Given the description of an element on the screen output the (x, y) to click on. 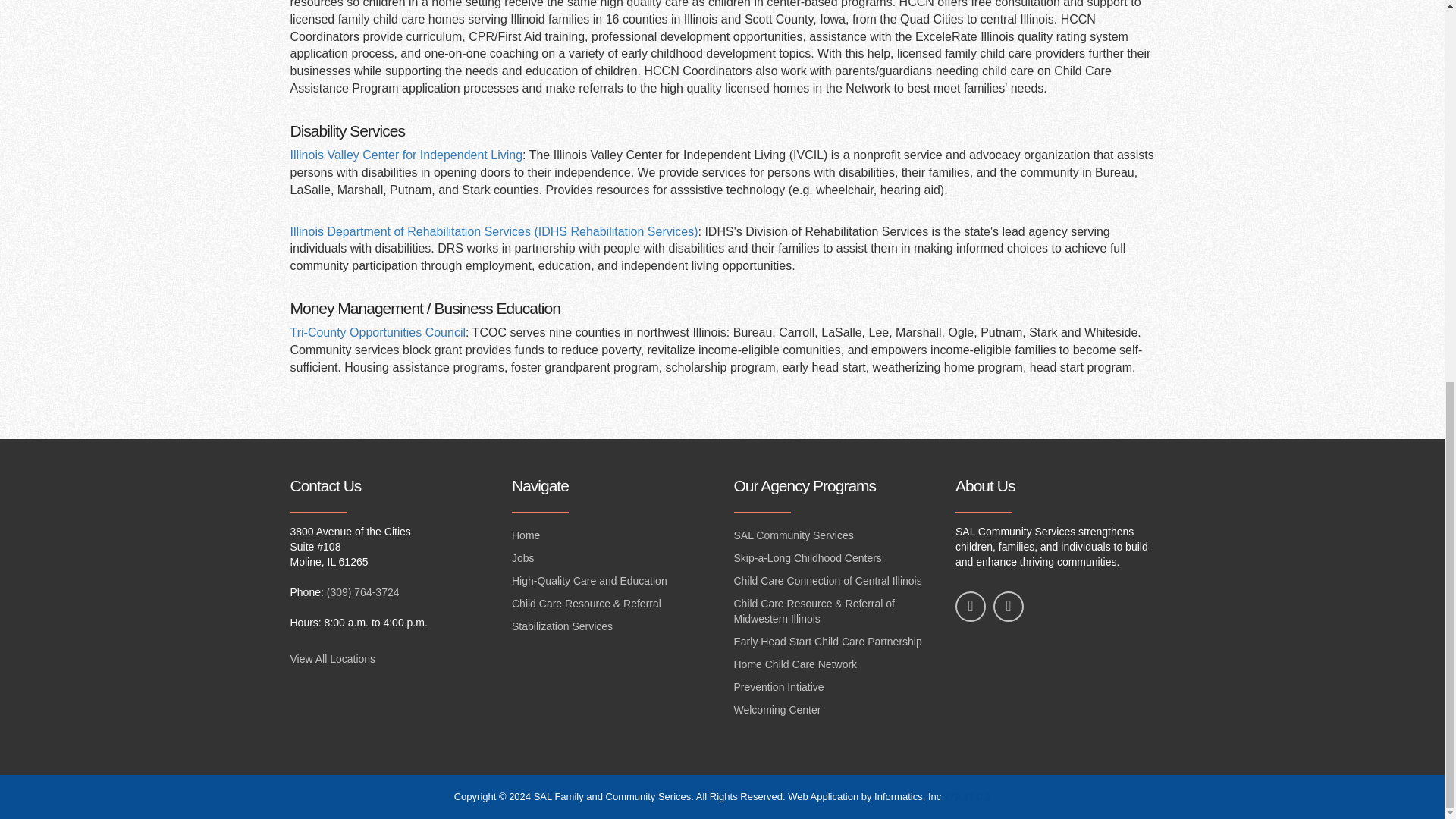
Illinois Valley Center for Independent Living (405, 154)
LinkedIn (1007, 606)
Stabilization Services (611, 626)
Child Care Connection of Central Illinois (833, 581)
Tri-County Opportunities Council (377, 332)
Skip-a-Long Childhood Centers (833, 558)
Jobs (611, 558)
Early Head Start Child Care Partnership (833, 641)
Facebook (970, 606)
Home (611, 535)
High-Quality Care and Education (611, 581)
View All Locations (332, 658)
SAL Community Services (833, 535)
